Given the description of an element on the screen output the (x, y) to click on. 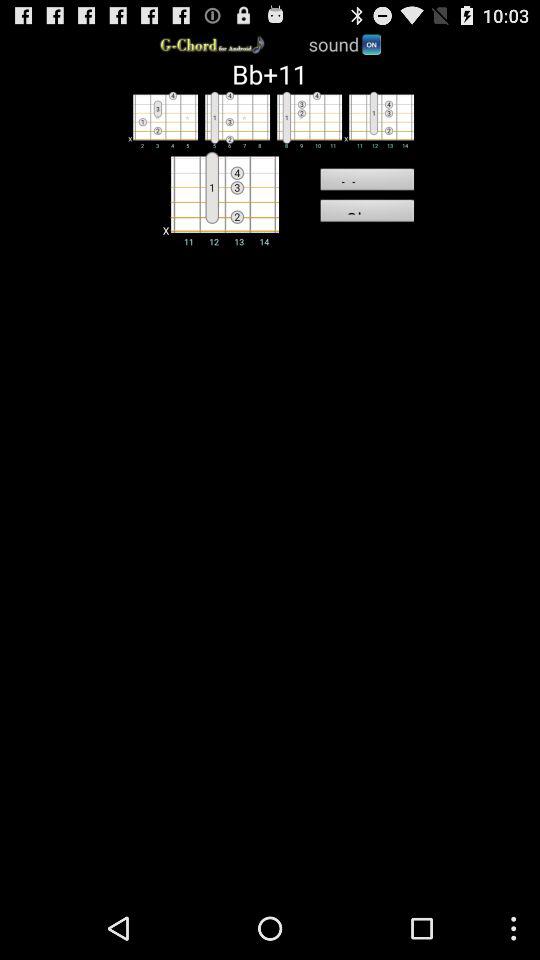
choose the image (378, 119)
